Given the description of an element on the screen output the (x, y) to click on. 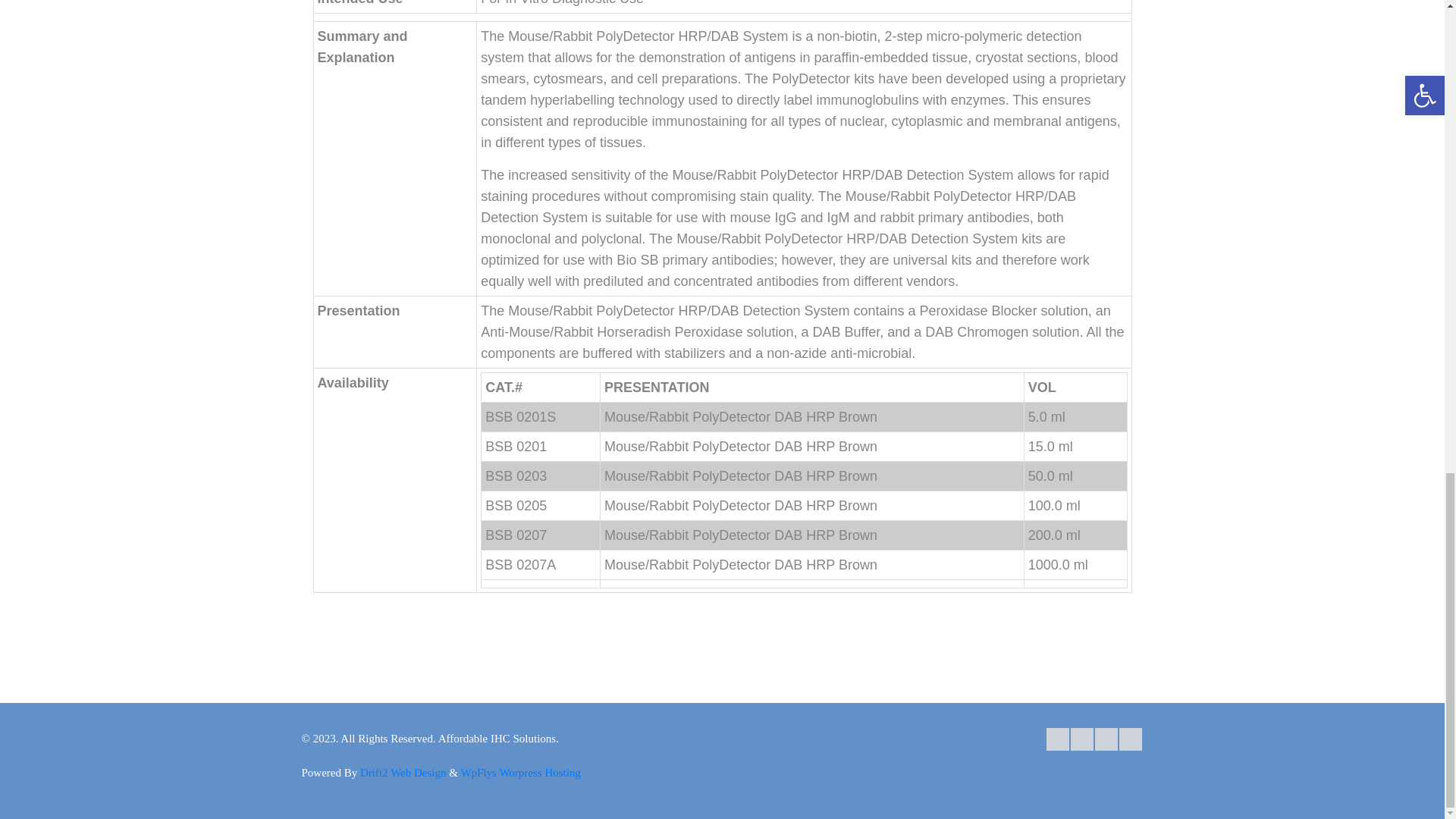
Drift2 Web Design (402, 772)
WpFlys Worpress Hosting (520, 772)
